Given the description of an element on the screen output the (x, y) to click on. 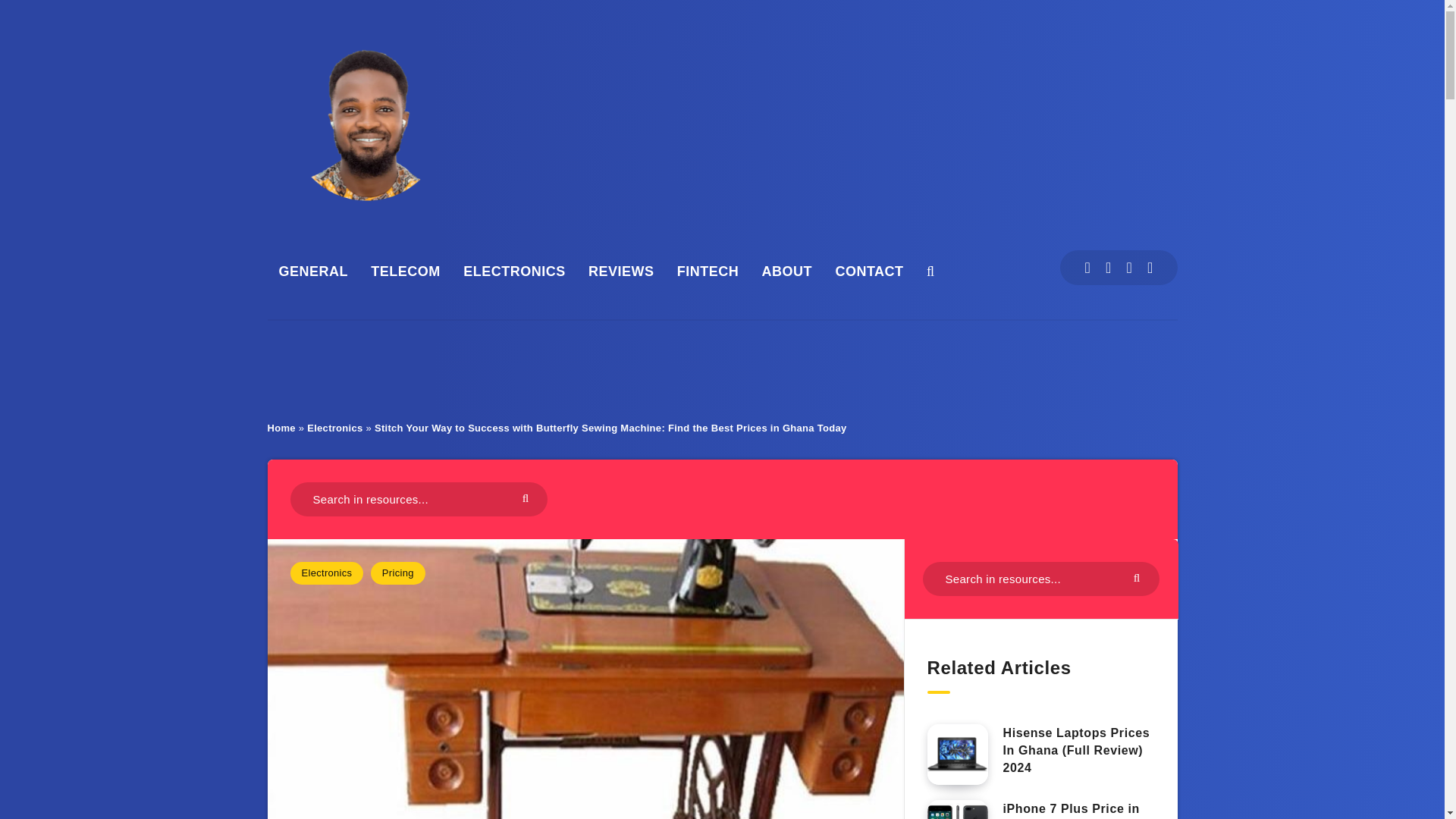
FINTECH (708, 271)
TELECOM (406, 271)
REVIEWS (620, 271)
Electronics (334, 428)
ELECTRONICS (514, 271)
Home (280, 428)
Pricing (398, 572)
GENERAL (314, 271)
CONTACT (868, 271)
ABOUT (786, 271)
Electronics (325, 572)
